Given the description of an element on the screen output the (x, y) to click on. 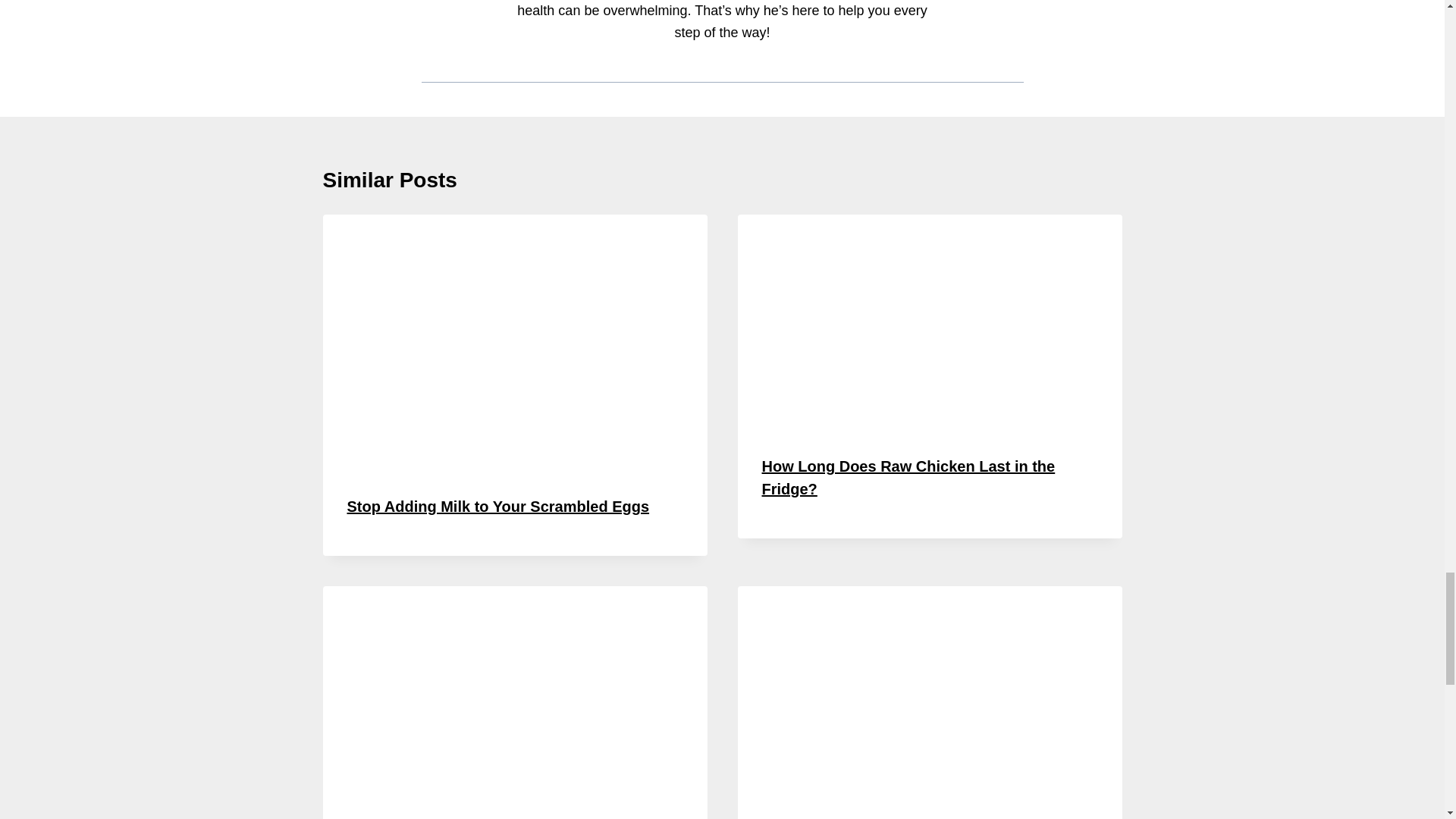
How Long Does Raw Chicken Last in the Fridge? (907, 477)
Stop Adding Milk to Your Scrambled Eggs (498, 506)
